Given the description of an element on the screen output the (x, y) to click on. 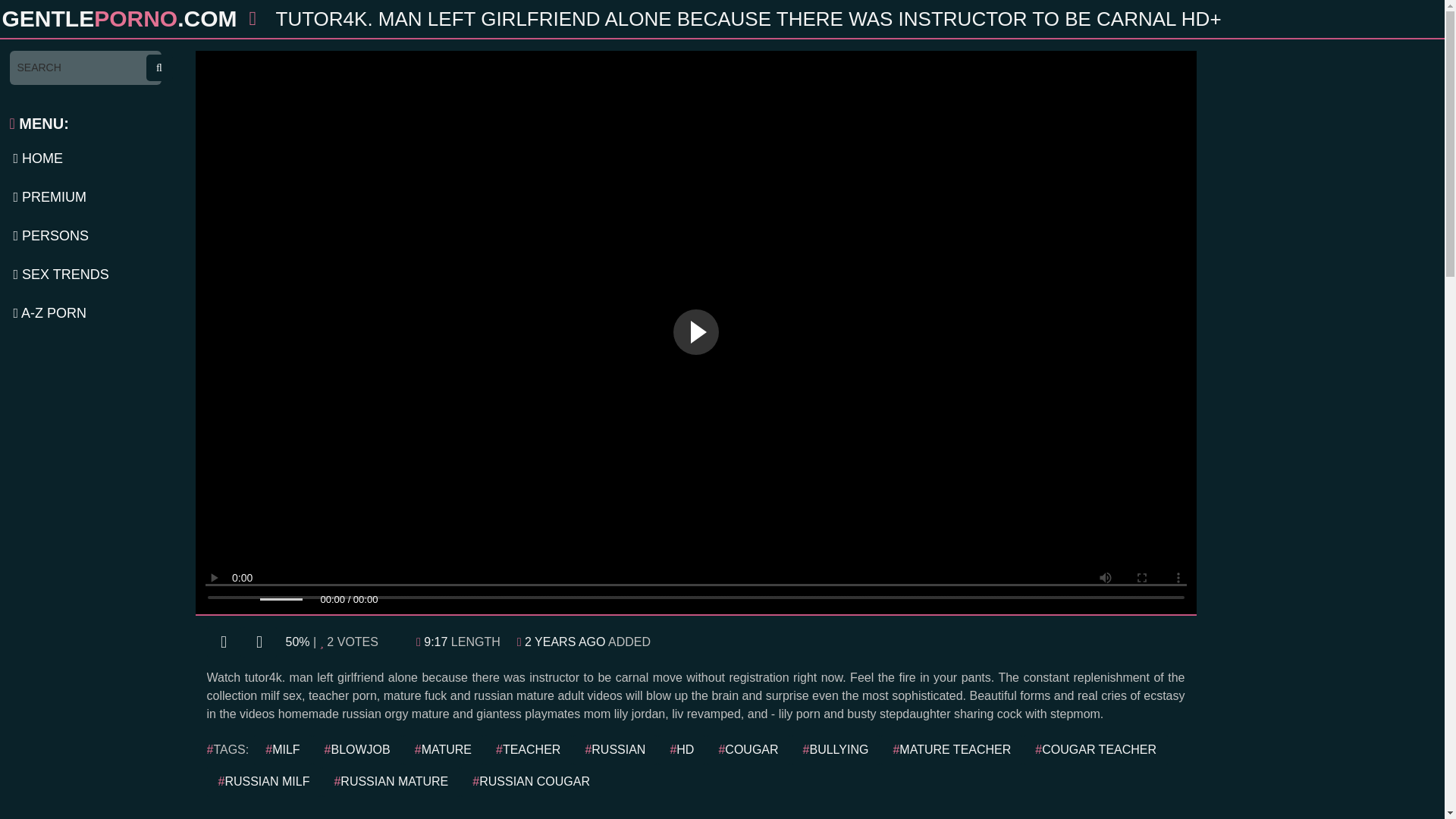
Russian mature (390, 780)
Mature (443, 748)
GENTLEPORNO.COM (118, 18)
Milf (282, 748)
Blowjob (357, 748)
Russian (614, 748)
Cougar (747, 748)
Teacher (528, 748)
Mature teacher (951, 748)
Cougar teacher (1095, 748)
